Given the description of an element on the screen output the (x, y) to click on. 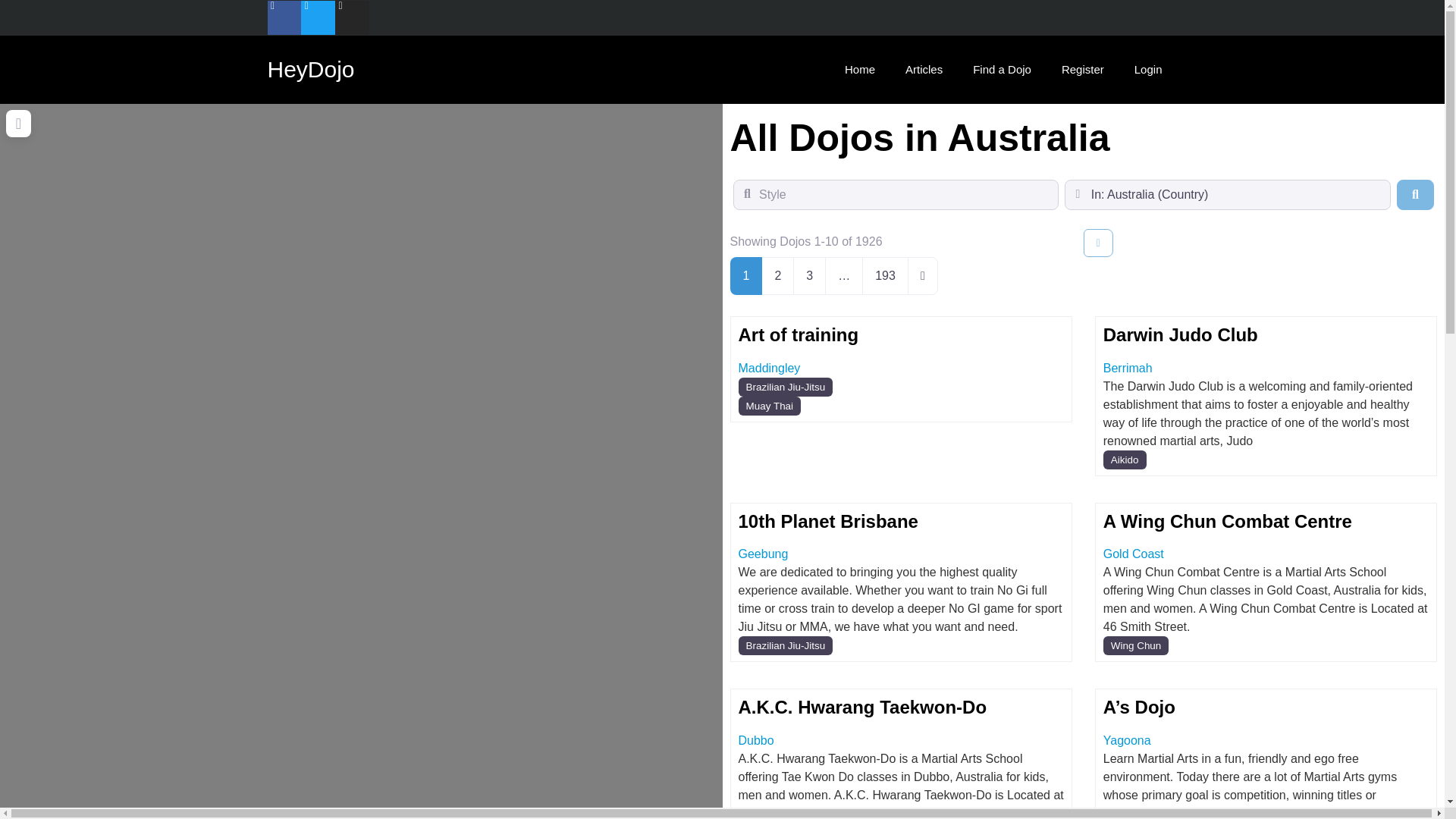
Art of training (798, 334)
Search (1415, 194)
A.K.C. Hwarang Taekwon-Do (862, 706)
Aikido (1125, 459)
Find a Dojo (1002, 70)
Wing Chun (1136, 645)
Home (859, 70)
A Wing Chun Combat Centre (1227, 521)
Darwin Judo Club (1180, 334)
Brazilian Jiu-Jitsu (785, 386)
HeyDojo (309, 68)
Register (1082, 70)
Articles (923, 70)
Muay Thai (770, 405)
Brazilian Jiu-Jitsu (785, 645)
